Given the description of an element on the screen output the (x, y) to click on. 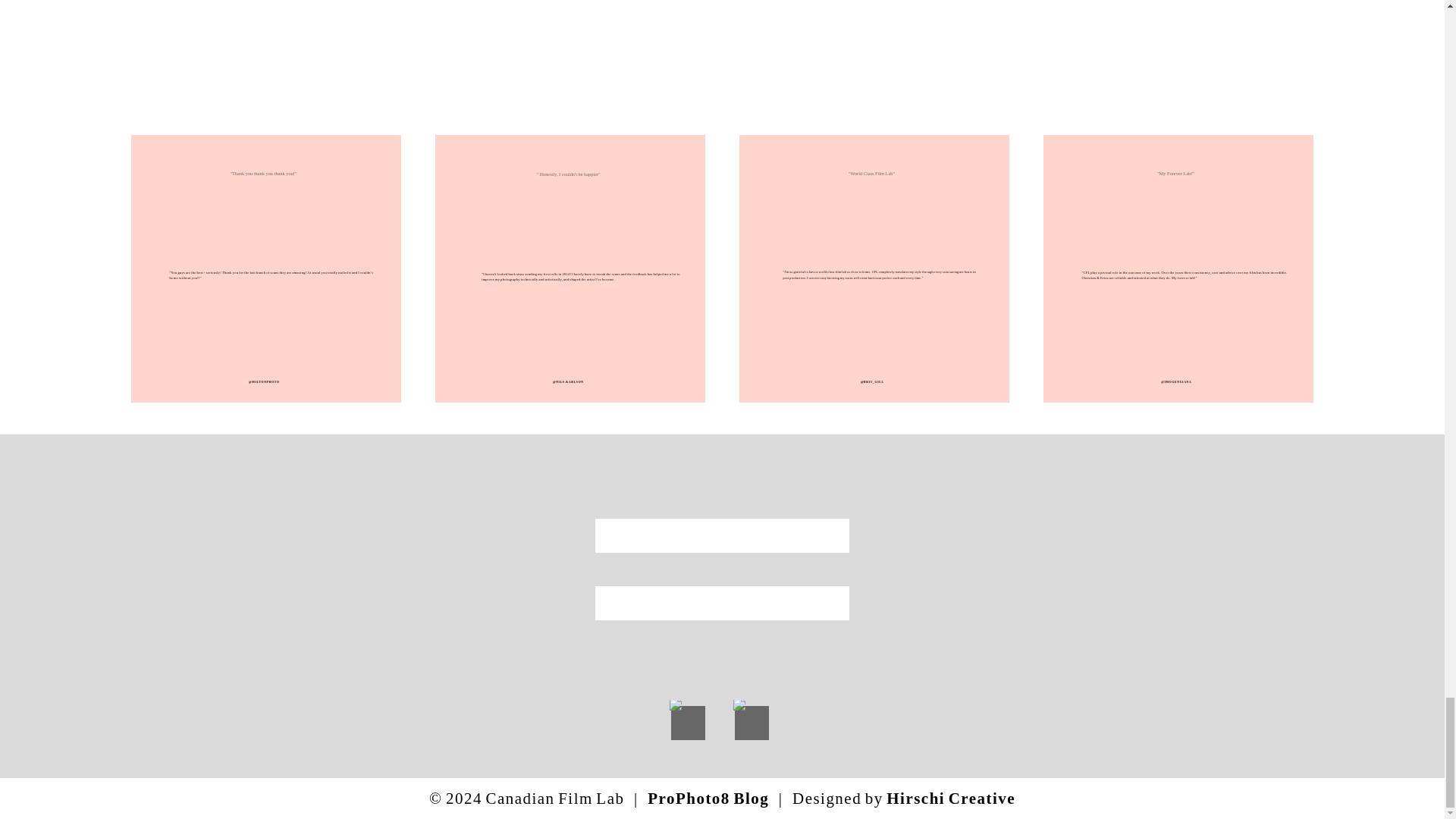
Hirschi Creative (950, 798)
ProPhoto8 Blog (707, 798)
ProPhoto WordPress Blog (707, 798)
